Given the description of an element on the screen output the (x, y) to click on. 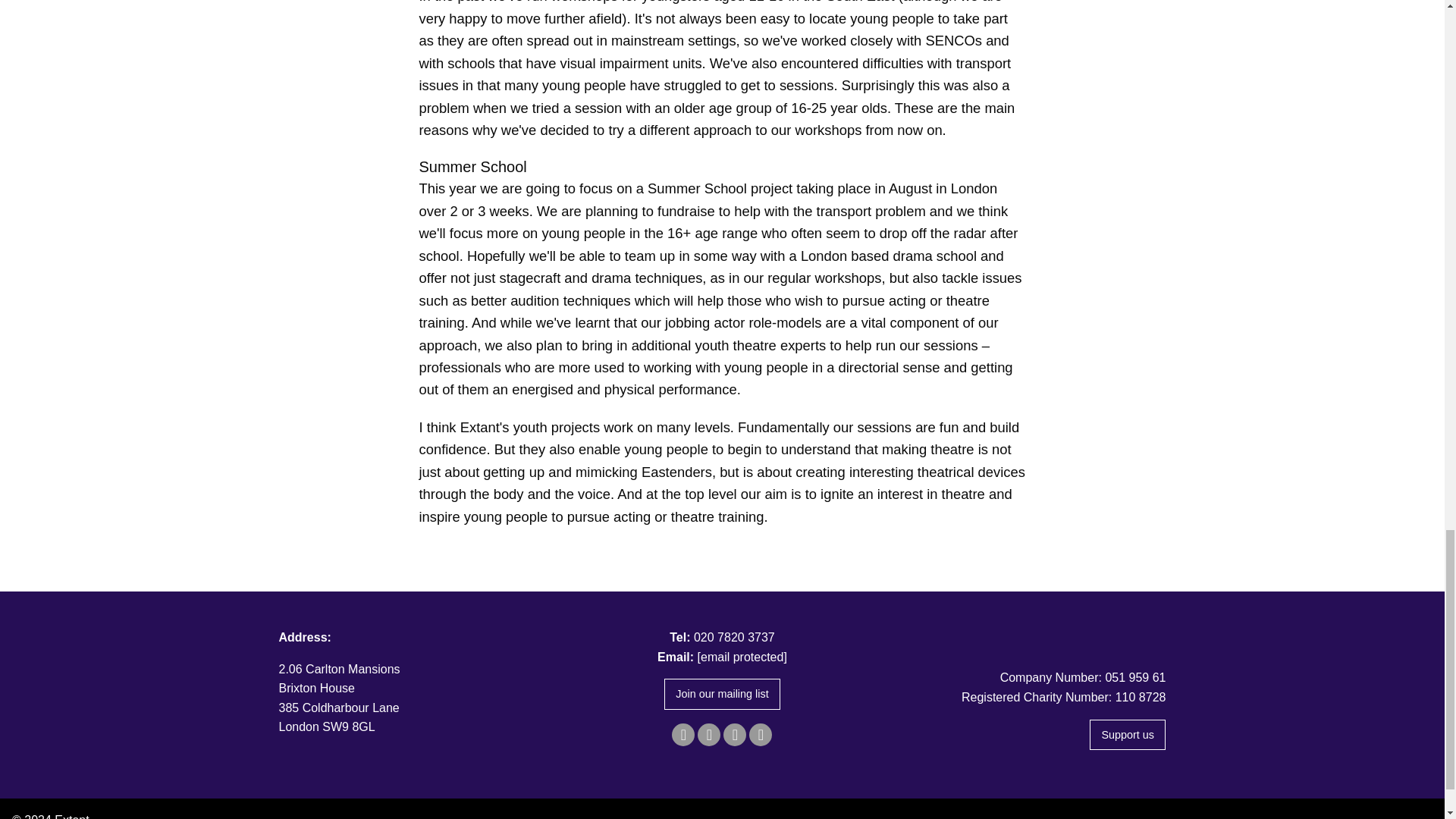
Arts Council (1025, 636)
Instagram (734, 734)
facebook (682, 734)
twitter (708, 734)
Join our mailing list (721, 694)
Support us (1127, 735)
YouTube (760, 734)
